Given the description of an element on the screen output the (x, y) to click on. 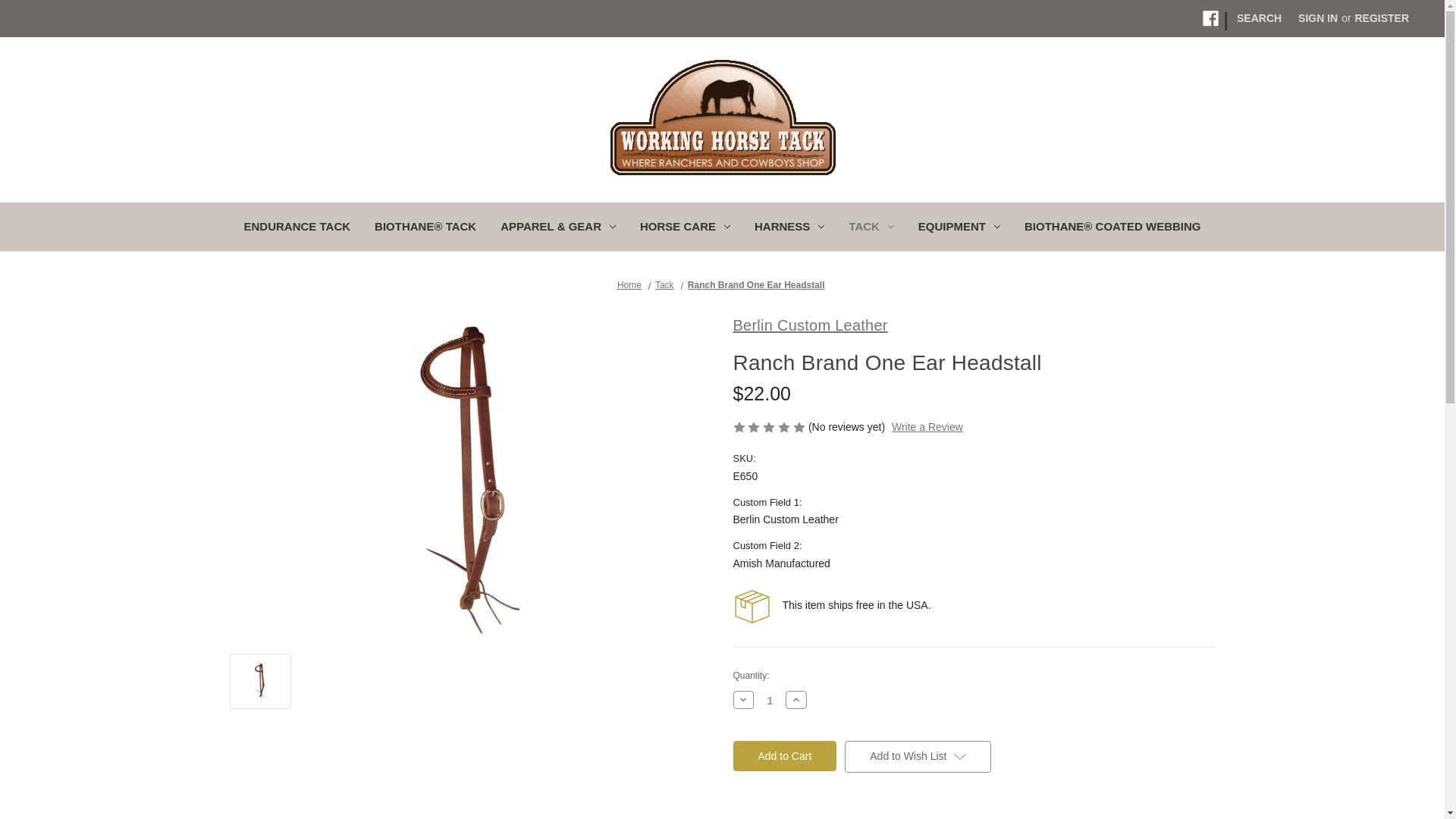
This item ships free in the USA. (751, 606)
Facebook (1210, 18)
Add to Cart (783, 756)
1 (770, 698)
HARNESS (788, 228)
HORSE CARE (684, 228)
SIGN IN (1317, 18)
Working Horse Tack (722, 117)
REGISTER (1380, 18)
TACK (870, 228)
SEARCH (1259, 18)
ENDURANCE TACK (296, 228)
